Given the description of an element on the screen output the (x, y) to click on. 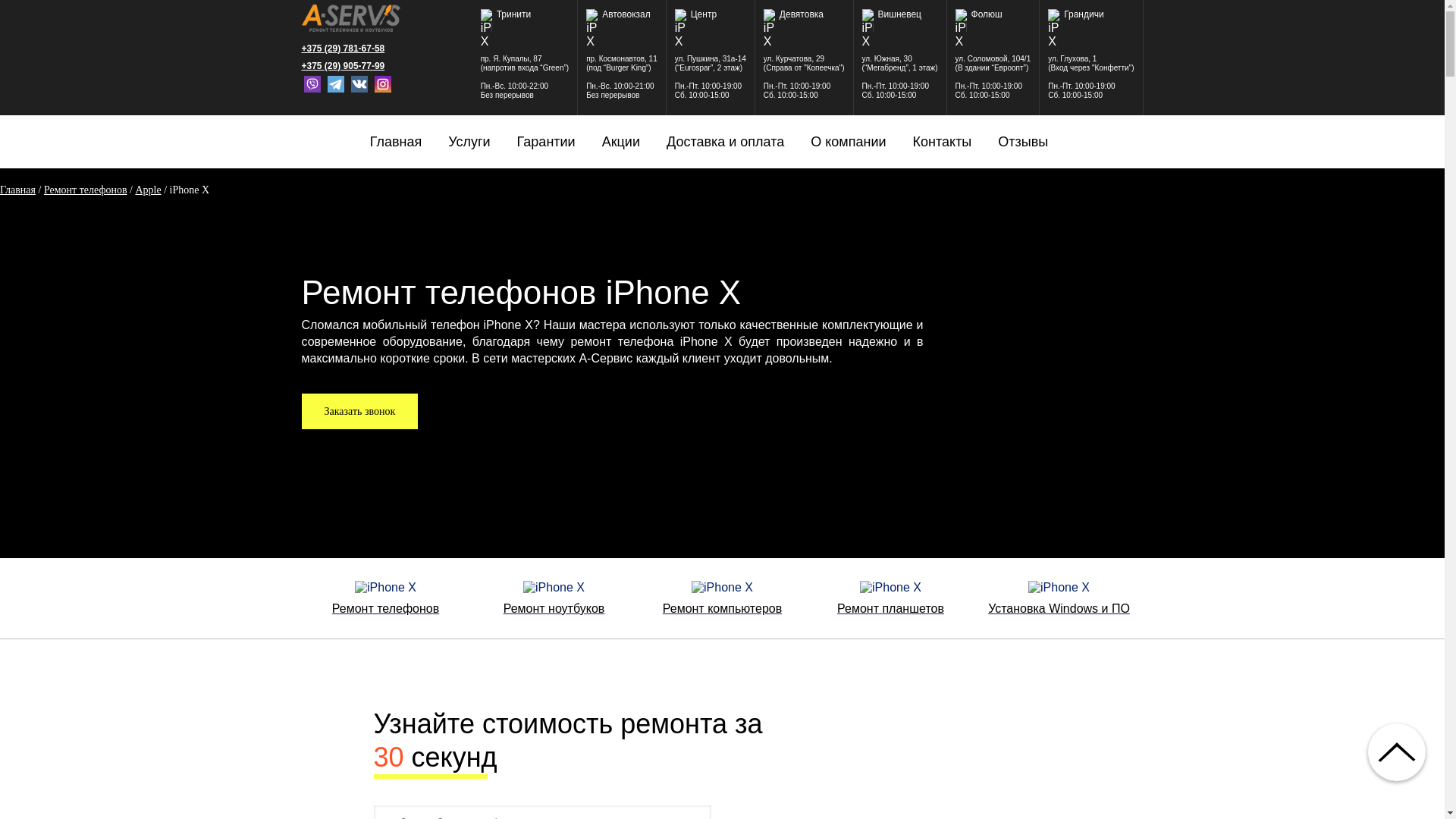
+375 (29) 905-77-99 Element type: text (350, 65)
+375 (29) 781-67-58 Element type: text (350, 48)
Apple Element type: text (147, 189)
